Given the description of an element on the screen output the (x, y) to click on. 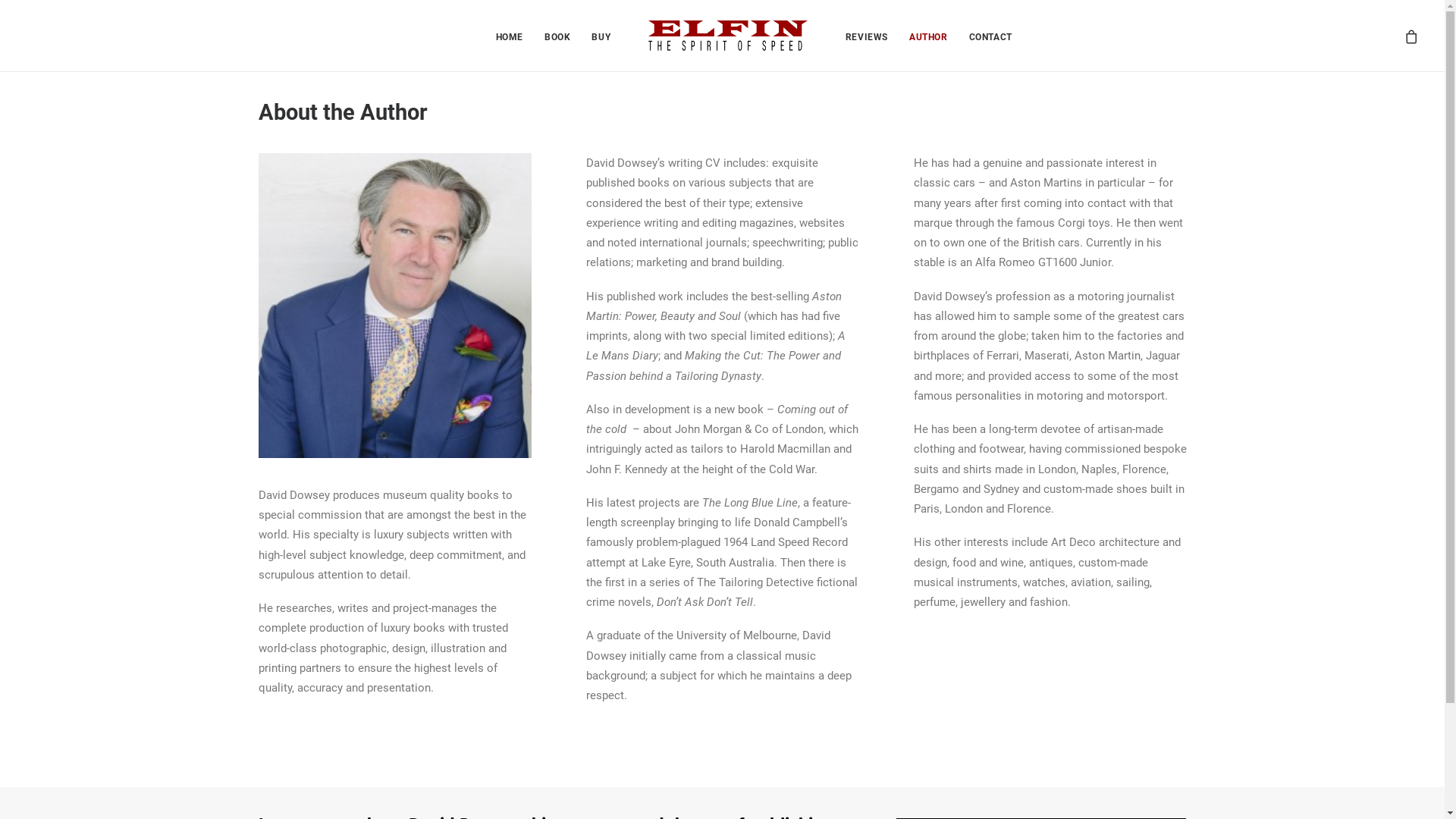
CONTACT Element type: text (990, 35)
BOOK Element type: text (556, 35)
REVIEWS Element type: text (866, 35)
AUTHOR Element type: text (928, 35)
HOME Element type: text (509, 35)
cart Element type: hover (1410, 35)
BUY Element type: text (600, 35)
